Given the description of an element on the screen output the (x, y) to click on. 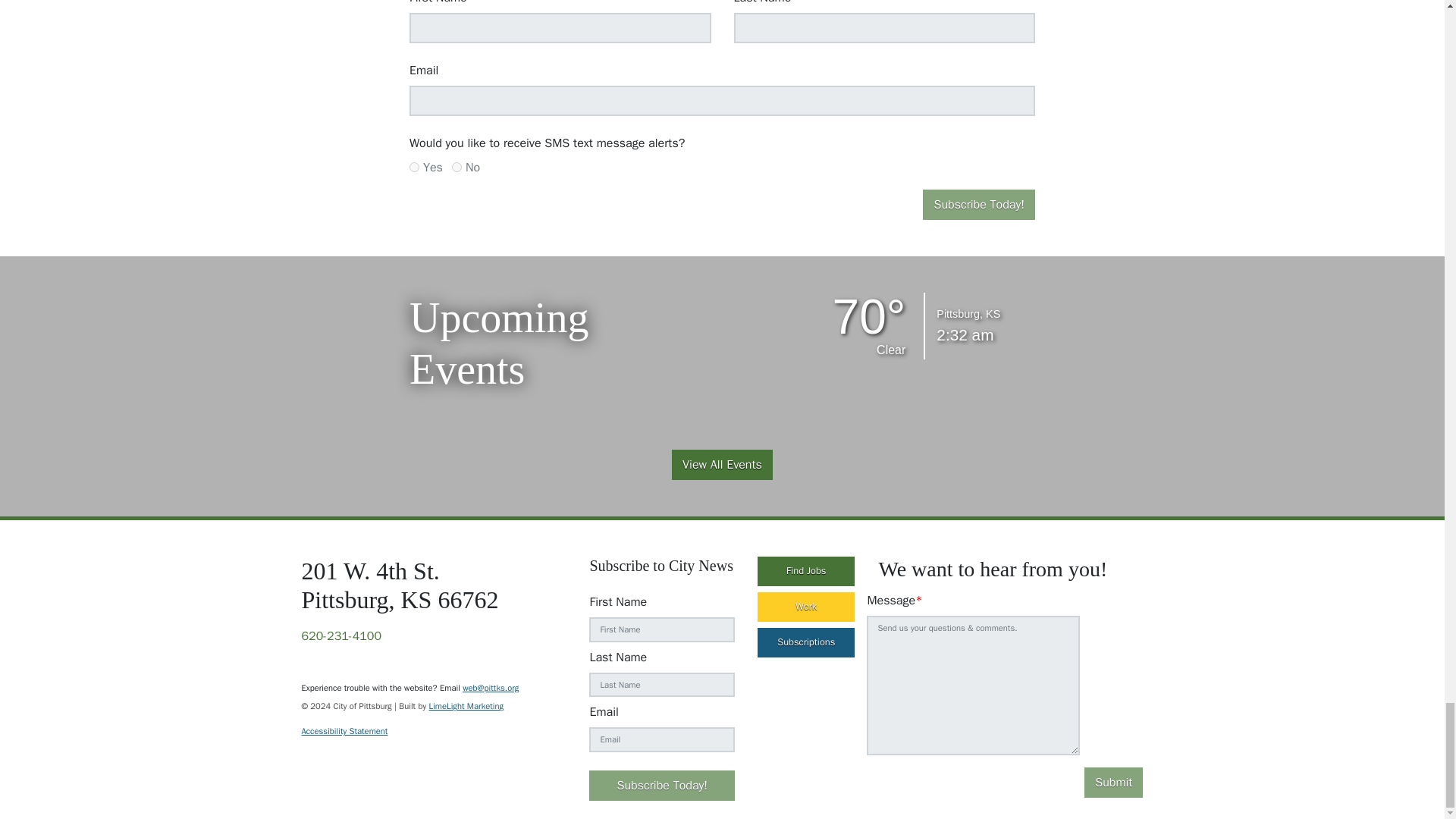
true (414, 166)
false (456, 166)
Submit (1113, 782)
